Given the description of an element on the screen output the (x, y) to click on. 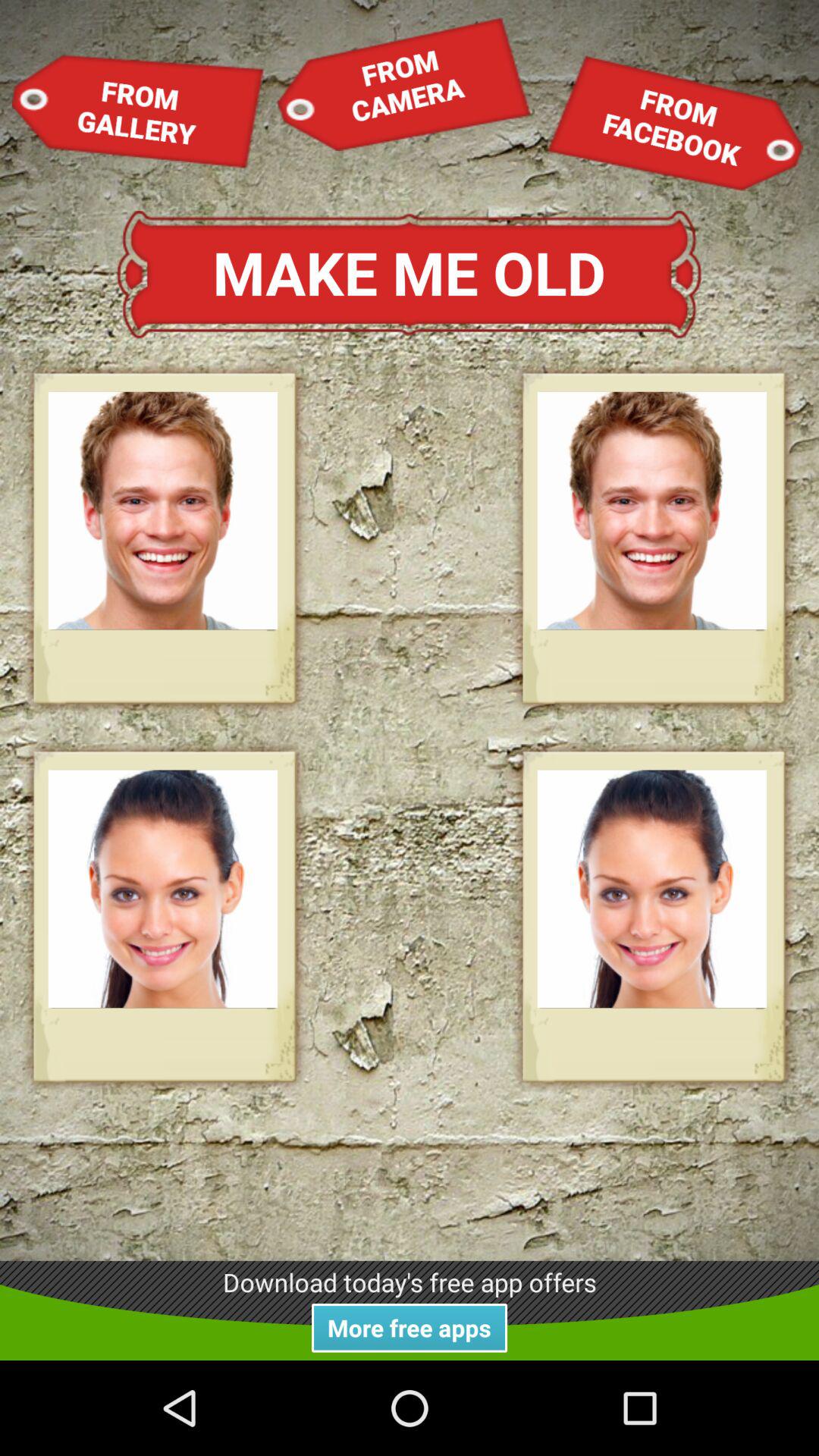
click from
facebook icon (675, 123)
